Given the description of an element on the screen output the (x, y) to click on. 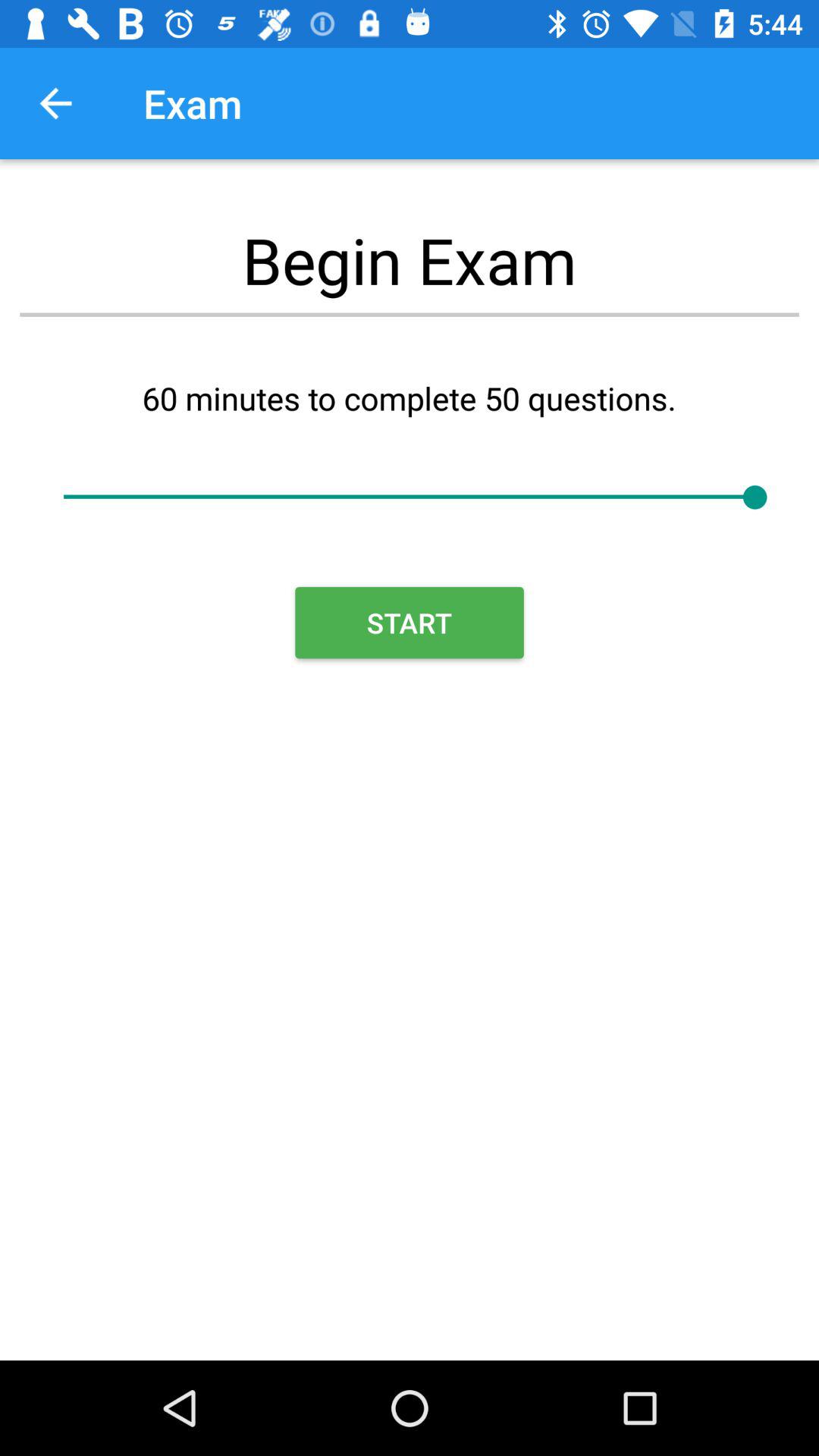
flip to start item (409, 622)
